Given the description of an element on the screen output the (x, y) to click on. 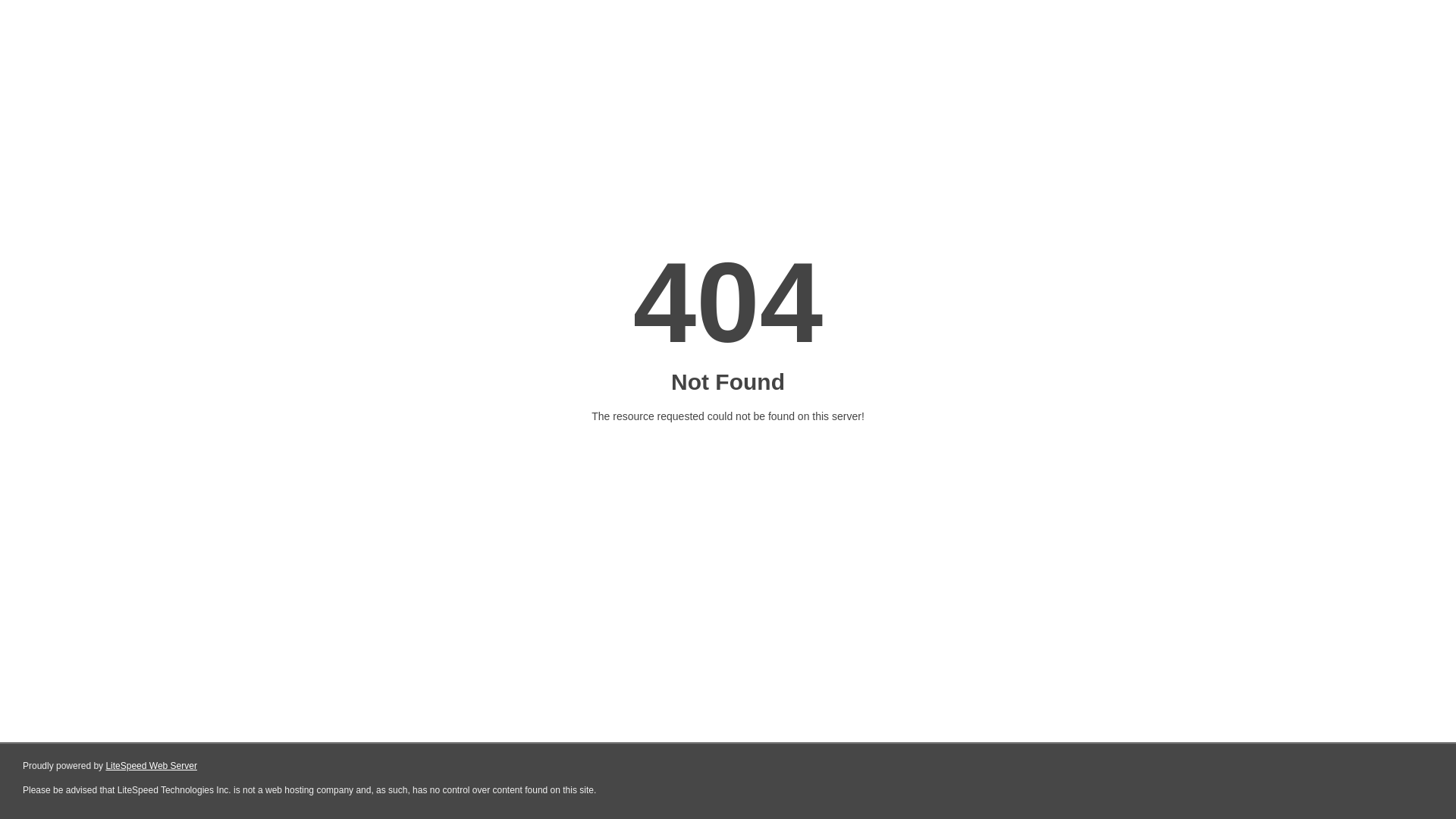
LiteSpeed Web Server Element type: text (151, 765)
